Given the description of an element on the screen output the (x, y) to click on. 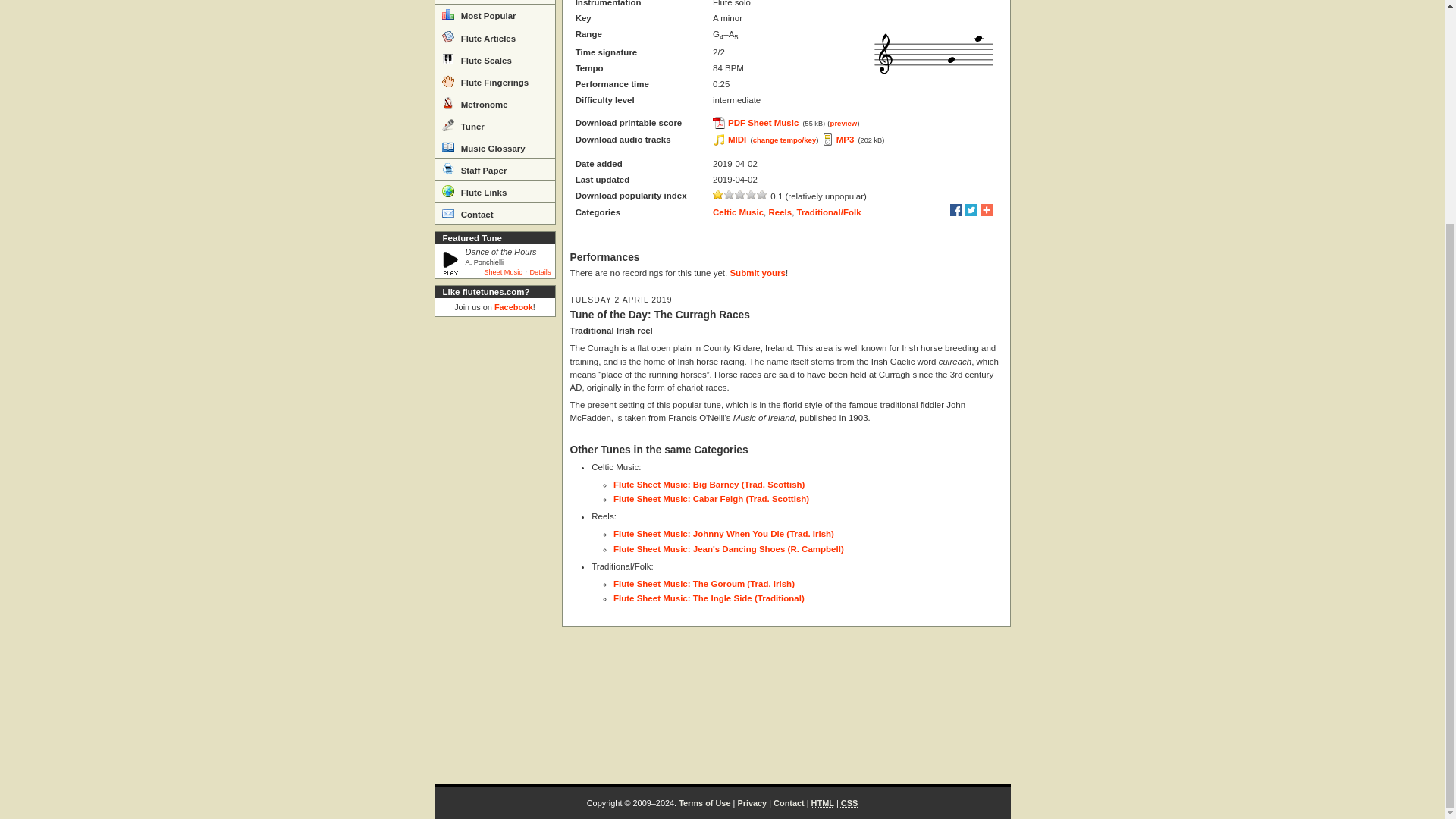
Sheet Music (502, 272)
Details (539, 272)
MP3 (838, 139)
Share on Facebook (956, 209)
Flute Fingerings (494, 81)
Privacy (751, 802)
Share on Twitter (970, 209)
Random Tune (494, 2)
Flute Scales (494, 59)
Submit yours (756, 272)
